Given the description of an element on the screen output the (x, y) to click on. 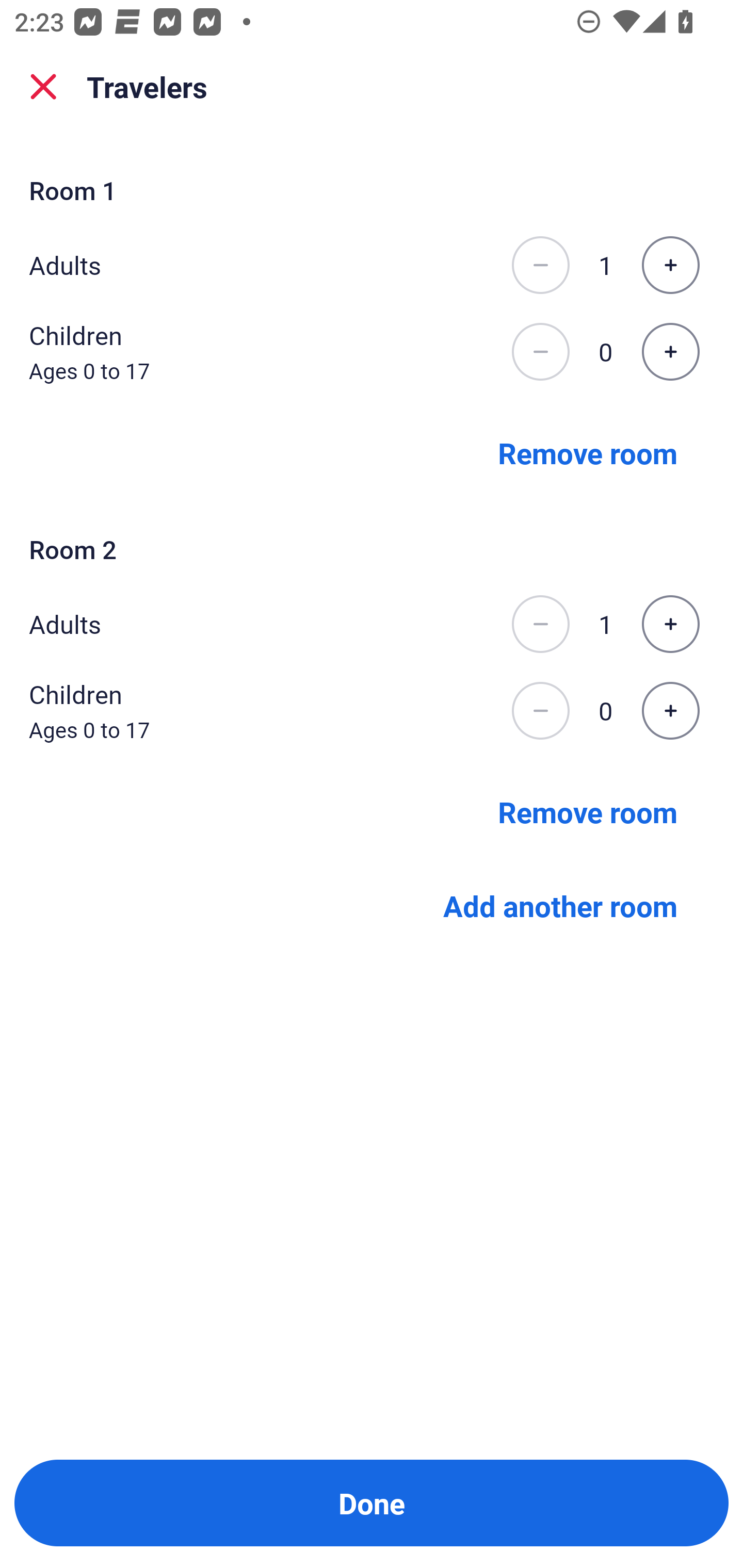
close (43, 86)
Decrease the number of adults (540, 264)
Increase the number of adults (670, 264)
Decrease the number of children (540, 351)
Increase the number of children (670, 351)
Remove room (588, 452)
Decrease the number of adults (540, 623)
Increase the number of adults (670, 623)
Decrease the number of children (540, 710)
Increase the number of children (670, 710)
Remove room (588, 811)
Add another room (560, 905)
Done (371, 1502)
